Given the description of an element on the screen output the (x, y) to click on. 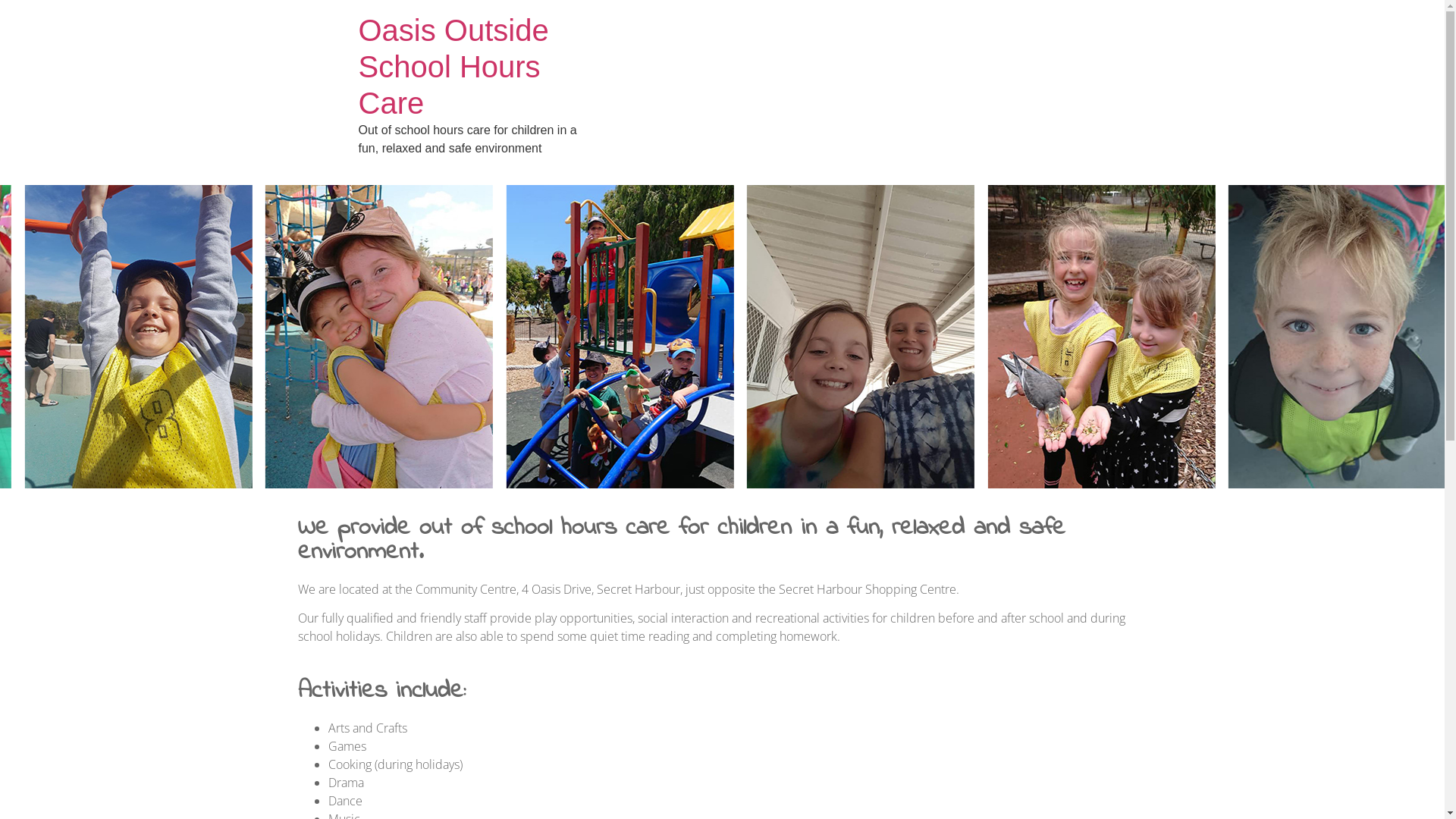
Oasis Outside School Hours Care Element type: text (452, 66)
